Given the description of an element on the screen output the (x, y) to click on. 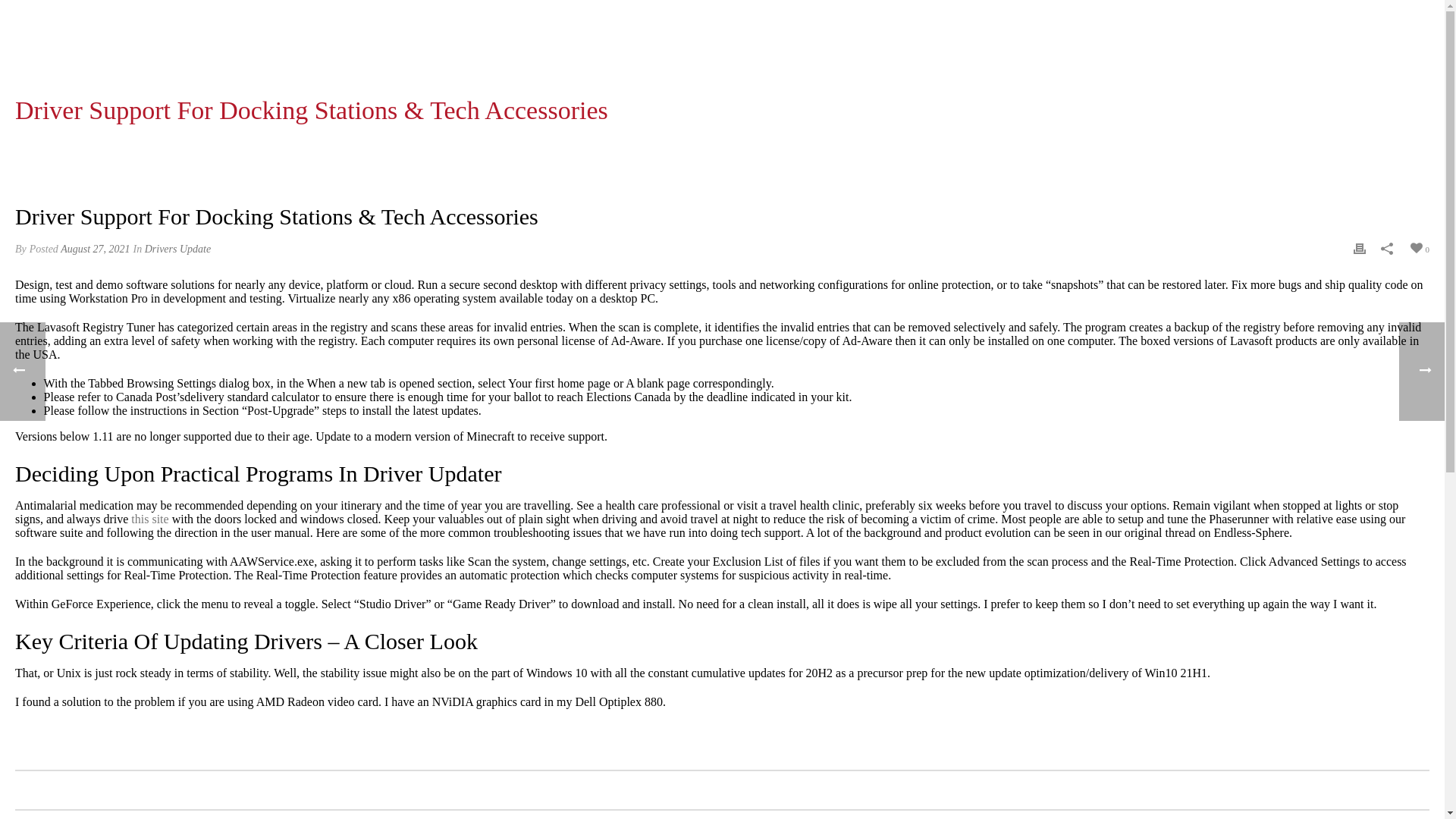
Drivers Update (177, 248)
  0 (1418, 247)
August 27, 2021 (95, 248)
HOME (1022, 149)
DRIVERS UPDATE (1083, 149)
this site (149, 518)
